Given the description of an element on the screen output the (x, y) to click on. 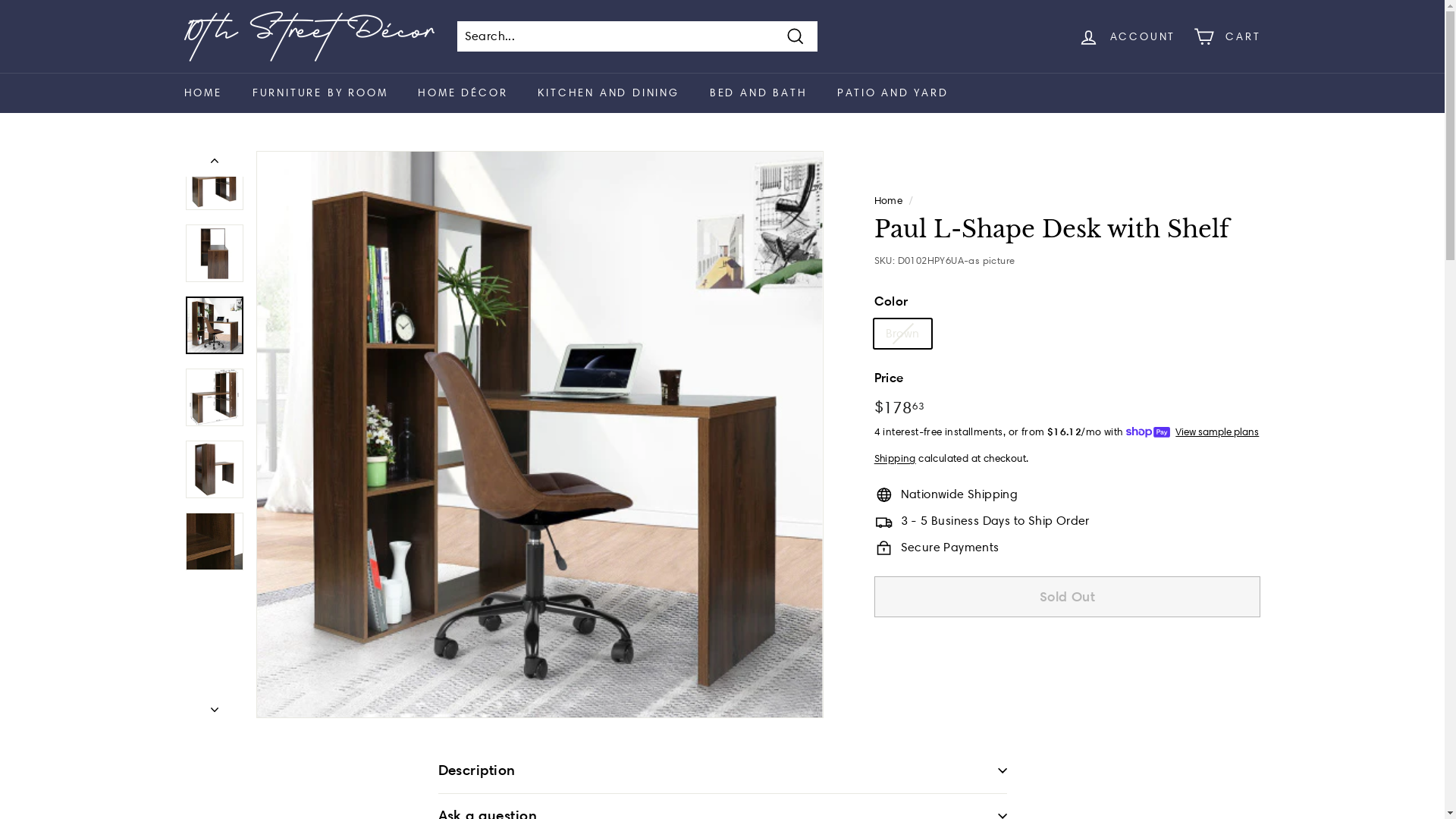
Sold Out Element type: text (1067, 596)
Skip to content Element type: text (0, 0)
Home Element type: text (888, 200)
FURNITURE BY ROOM Element type: text (320, 92)
BED AND BATH Element type: text (758, 92)
Description Element type: text (722, 770)
Shipping Element type: text (895, 457)
PATIO AND YARD Element type: text (892, 92)
KITCHEN AND DINING Element type: text (607, 92)
ACCOUNT Element type: text (1127, 35)
HOME Element type: text (202, 92)
